Given the description of an element on the screen output the (x, y) to click on. 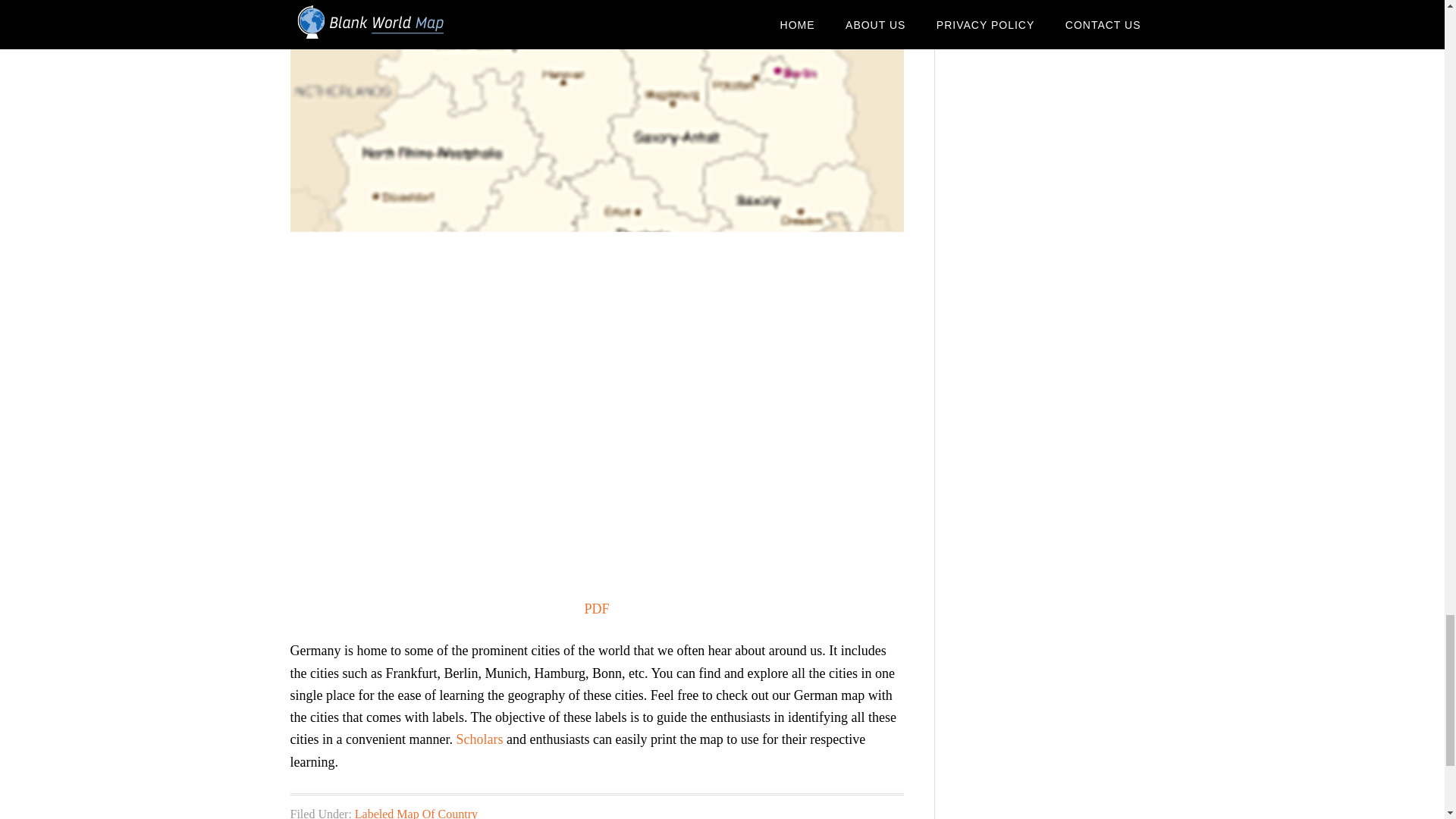
PDF (595, 608)
Scholars (478, 739)
Labeled Map Of Country (416, 813)
